Given the description of an element on the screen output the (x, y) to click on. 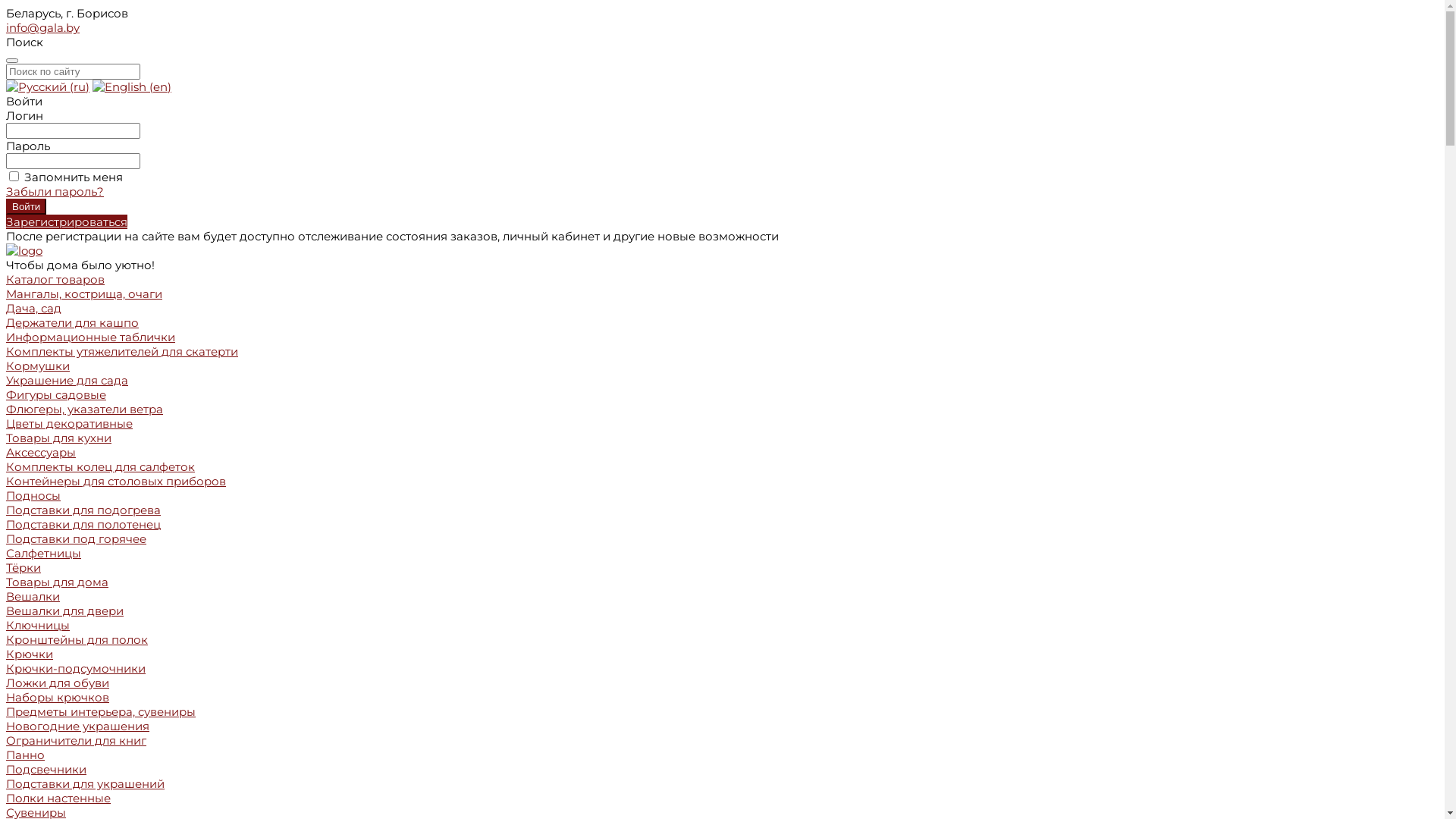
RU Element type: hover (47, 86)
EN Element type: hover (131, 86)
info@gala.by Element type: text (42, 27)
